Given the description of an element on the screen output the (x, y) to click on. 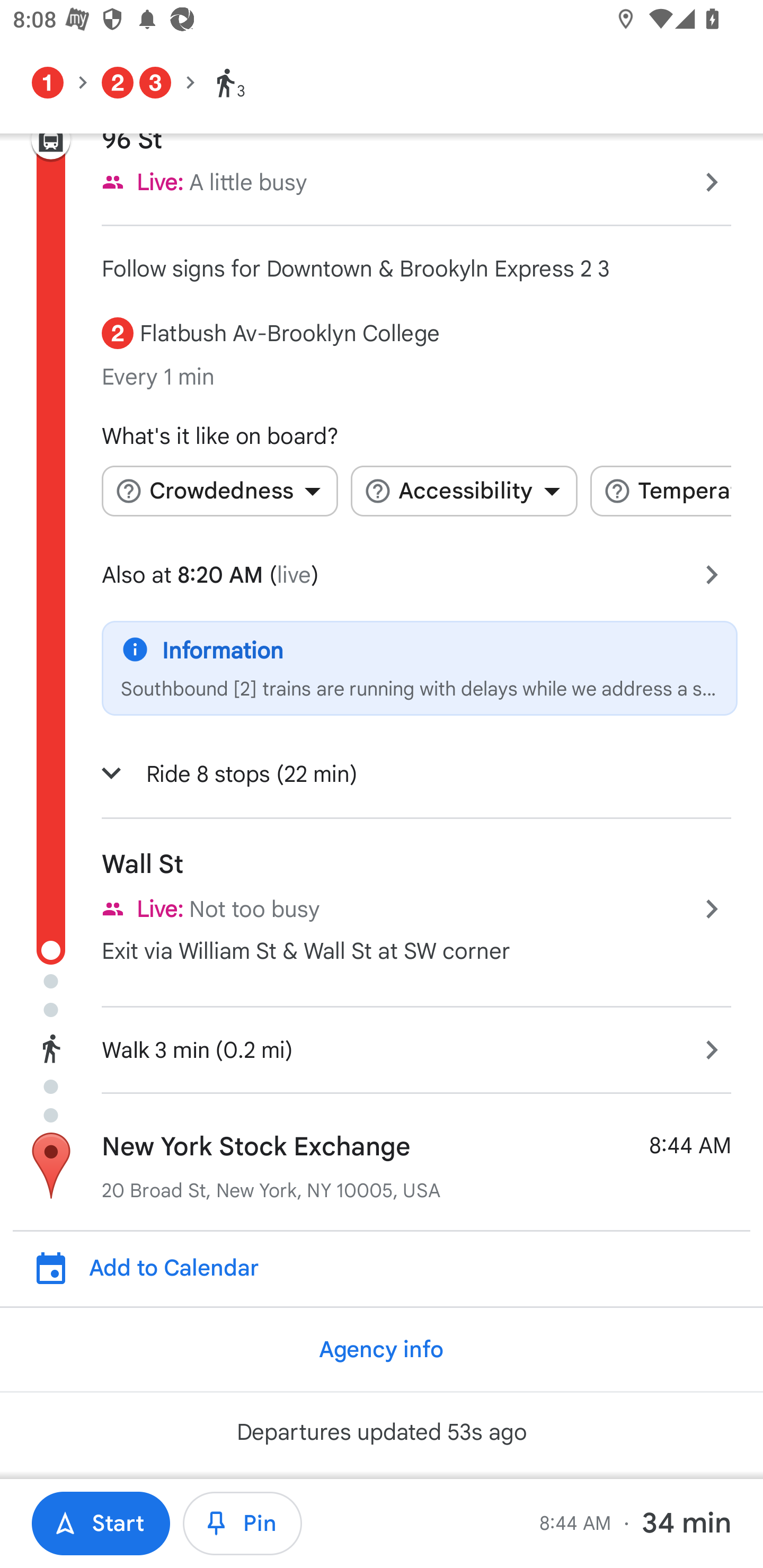
Crowdedness Crowdedness Crowdedness (219, 491)
Accessibility Accessibility Accessibility (463, 491)
Temperature Temperature Temperature (660, 491)
Walk 3 min (0.2 mi) Zoom map (381, 1047)
Add to Calendar (391, 1267)
Agency info (380, 1348)
Pin trip Pin Pin trip (242, 1522)
